Given the description of an element on the screen output the (x, y) to click on. 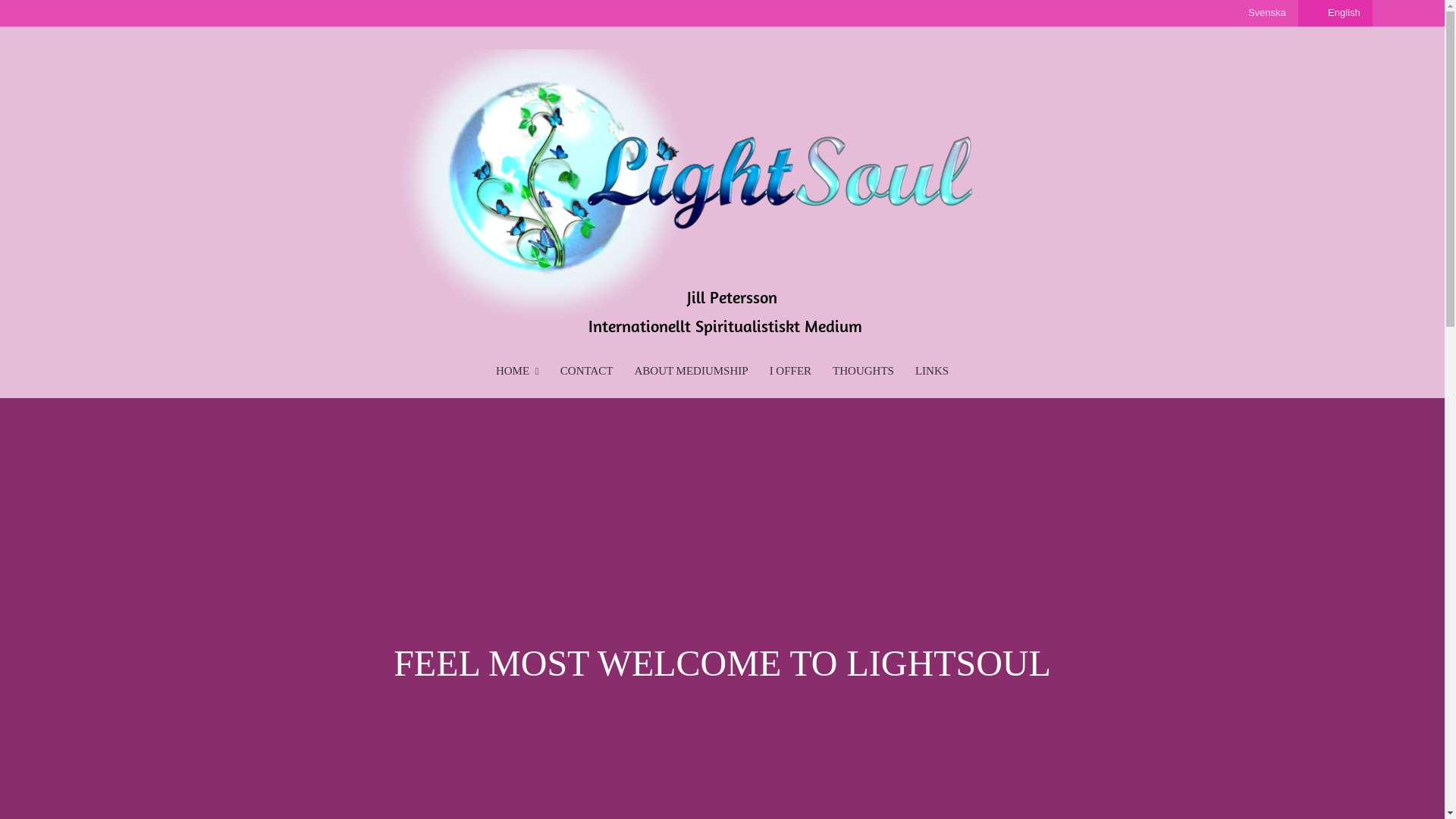
ABOUT MEDIUMSHIP (690, 371)
Svenska (1258, 13)
CONTACT (587, 371)
I OFFER (790, 371)
LINKS (931, 371)
THOUGHTS (863, 371)
English (1335, 13)
